Given the description of an element on the screen output the (x, y) to click on. 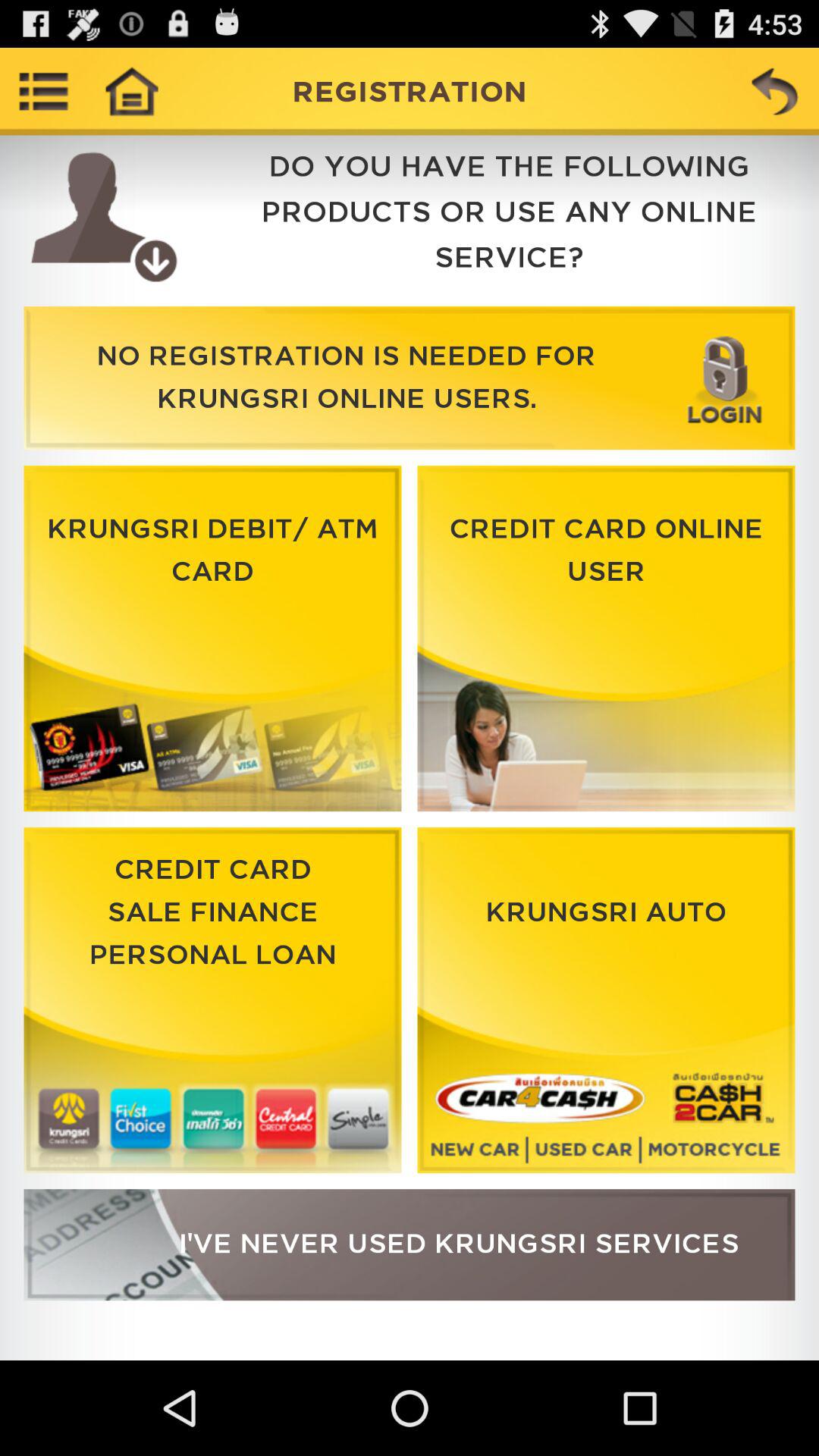
logo (212, 638)
